Given the description of an element on the screen output the (x, y) to click on. 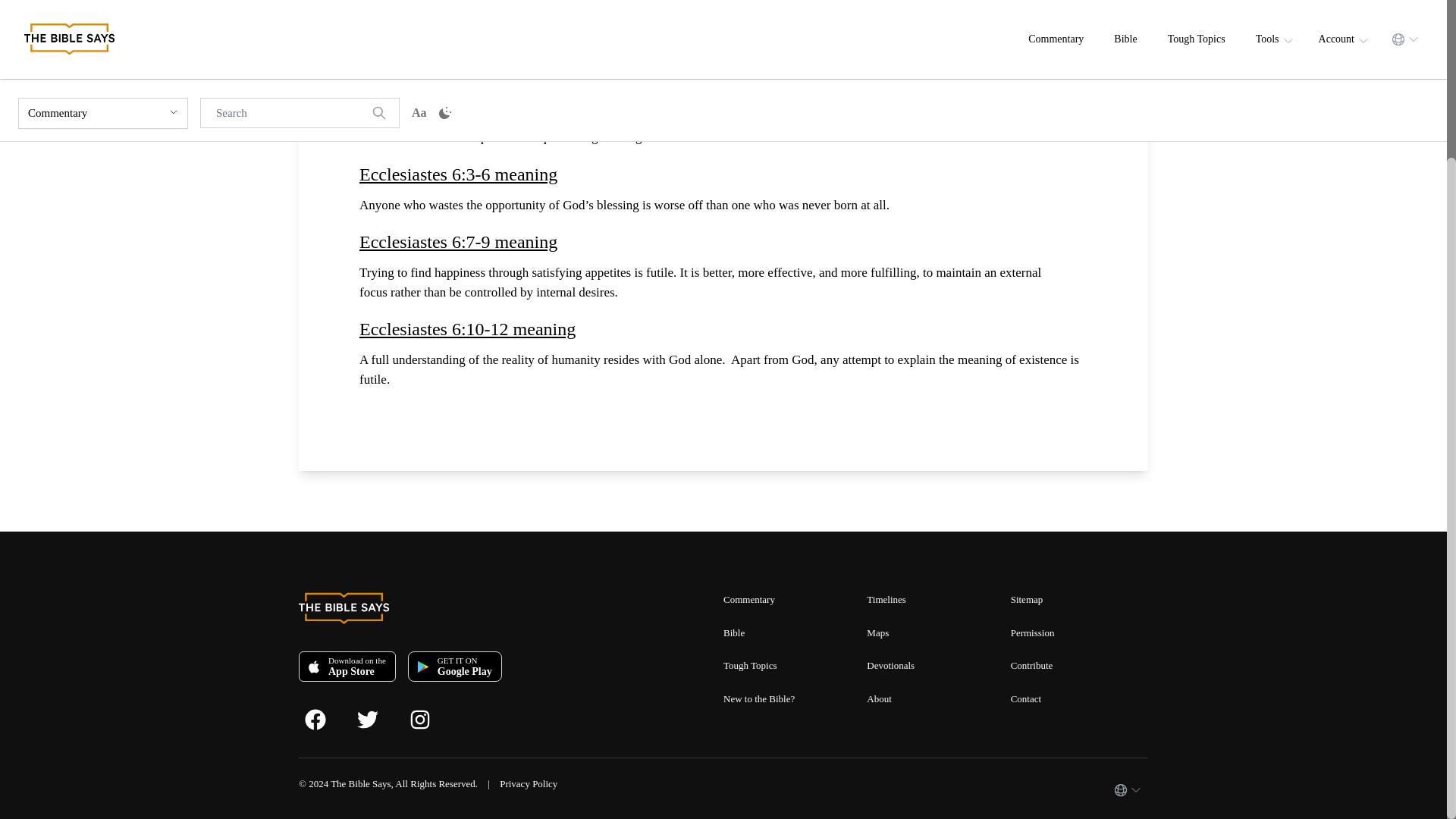
Ecclesiastes 6:1-2 meaning (723, 105)
Permission (1032, 632)
Bible (733, 632)
Commentary (748, 599)
Sitemap (1026, 599)
Timelines (885, 599)
Facebook (330, 718)
About (878, 697)
Tough Topics (750, 665)
Ecclesiastes 6:7-9 meaning (723, 241)
Ecclesiastes 6:3-6 meaning (723, 173)
Instagram (435, 718)
Ecclesiastes (413, 27)
Ecclesiastes (451, 7)
New to the Bible? (758, 697)
